Given the description of an element on the screen output the (x, y) to click on. 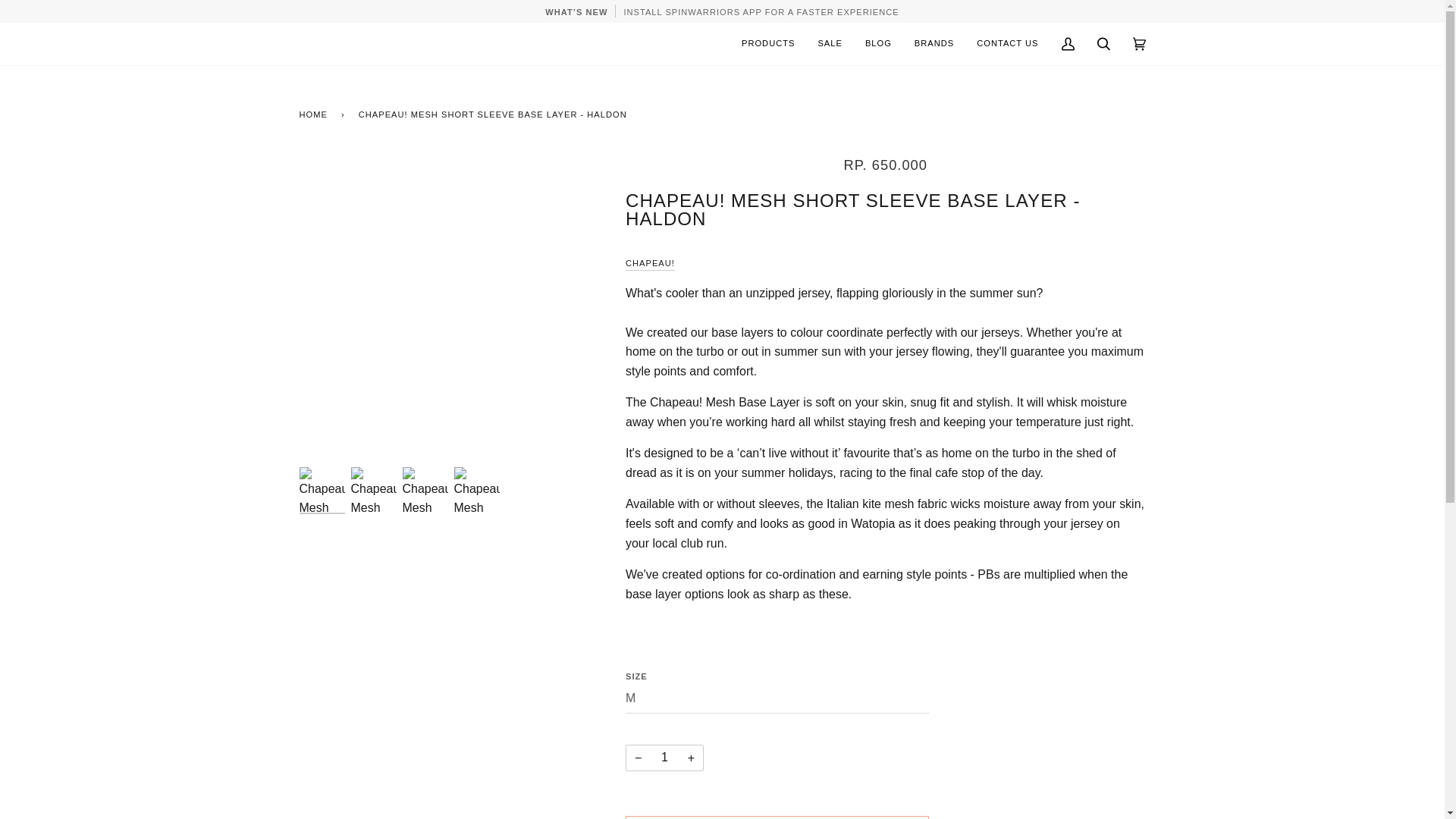
1 (664, 757)
PRODUCTS (768, 43)
Back to the frontpage (314, 114)
